Given the description of an element on the screen output the (x, y) to click on. 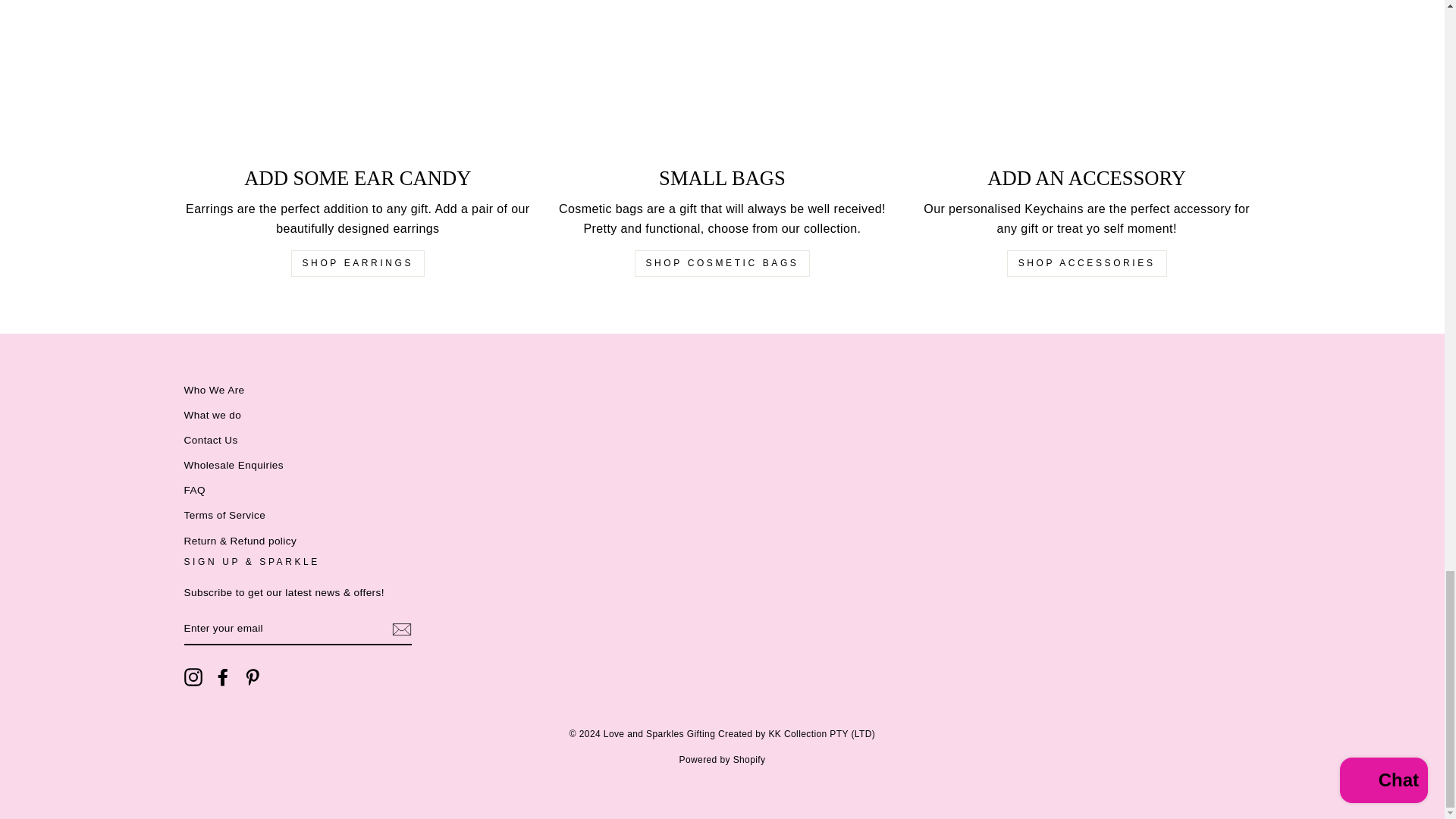
Love and Sparkles Gifting on Facebook (222, 677)
Love and Sparkles Gifting on Pinterest (251, 677)
Love and Sparkles Gifting on Instagram (192, 677)
